Given the description of an element on the screen output the (x, y) to click on. 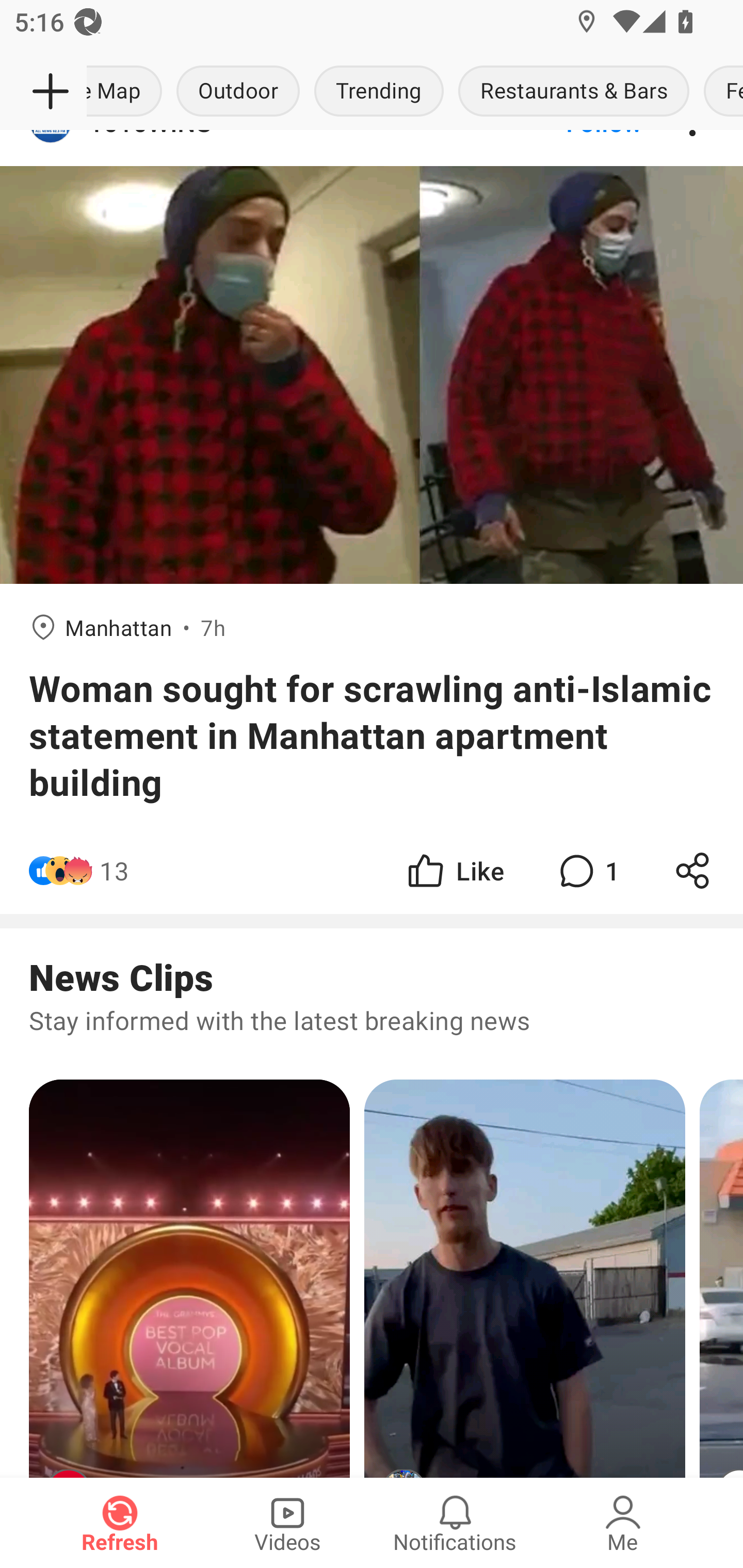
Outdoor (237, 91)
Trending (378, 91)
Restaurants & Bars (573, 91)
13 (114, 870)
Like (454, 870)
1 (587, 870)
Videos (287, 1522)
Notifications (455, 1522)
Me (622, 1522)
